Given the description of an element on the screen output the (x, y) to click on. 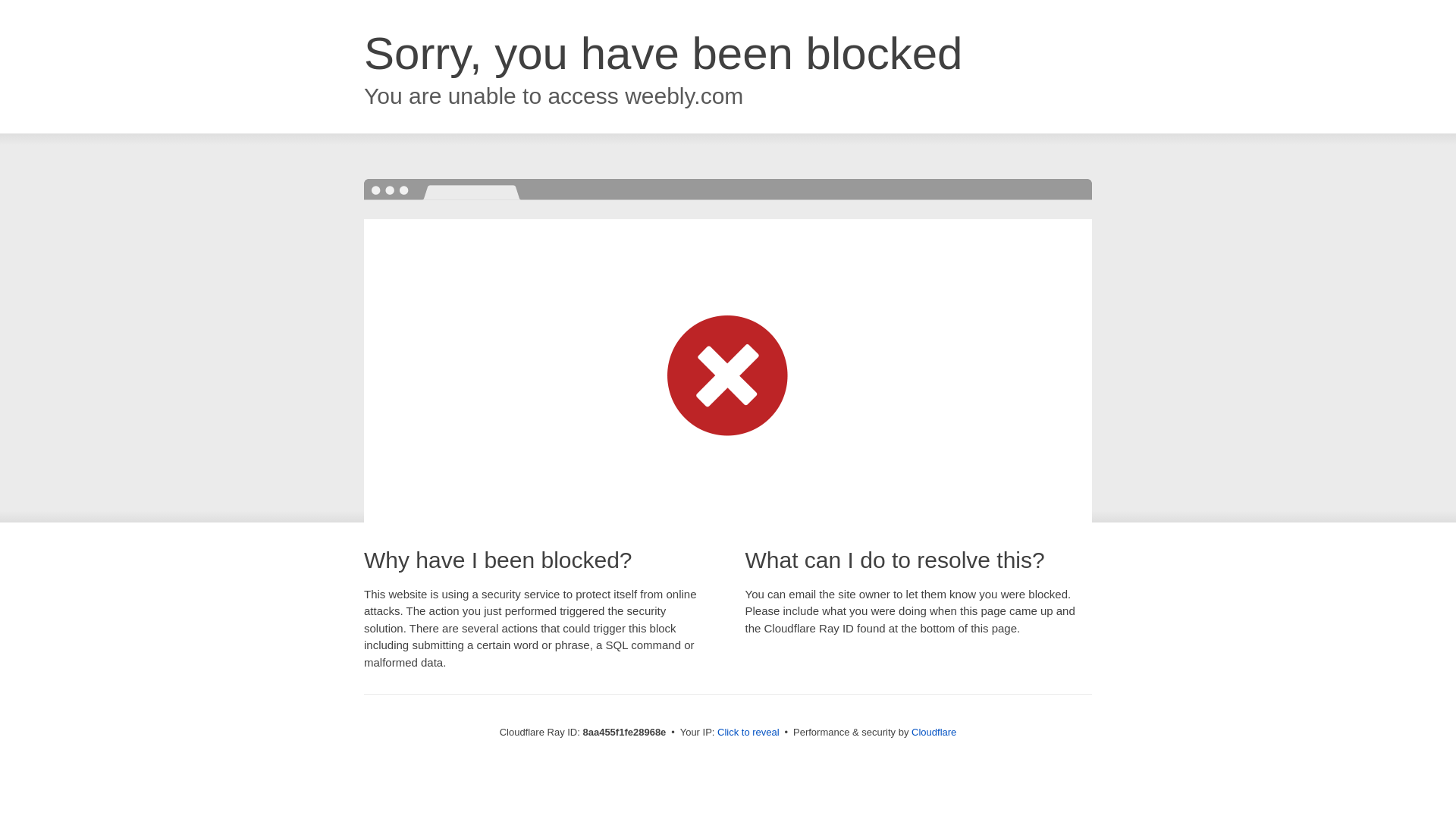
Click to reveal (747, 732)
Cloudflare (933, 731)
